Given the description of an element on the screen output the (x, y) to click on. 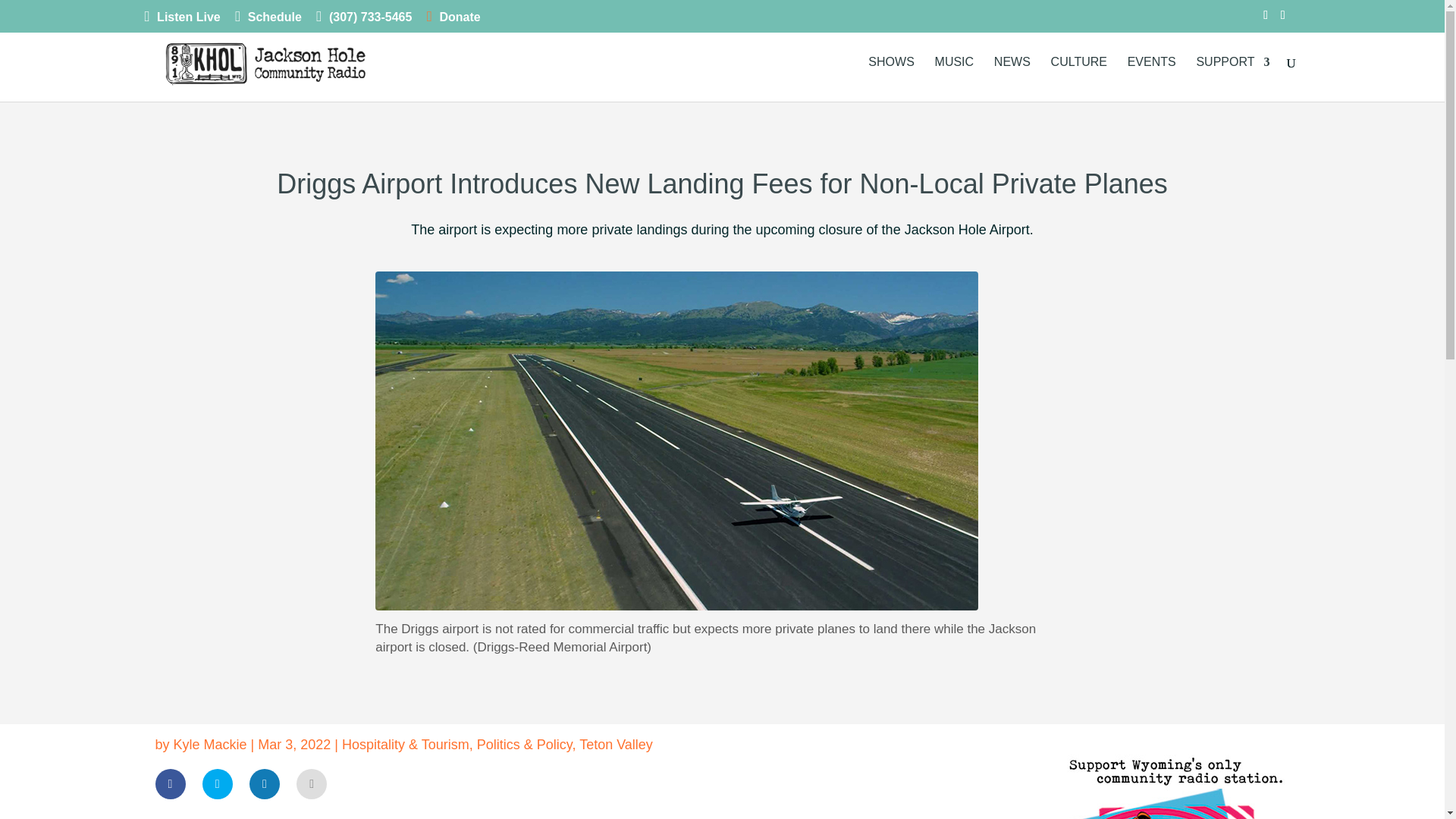
SHOWS (890, 78)
Listen Live (181, 20)
SUPPORT (1232, 78)
Kyle Mackie (210, 744)
CULTURE (1078, 78)
Donate (453, 20)
Teton Valley (615, 744)
EVENTS (1151, 78)
Posts by Kyle Mackie (210, 744)
Schedule (267, 20)
KHOL-Jackson-Hole-Community-Radio-Membership-Support-Ad-1 (1174, 777)
